Given the description of an element on the screen output the (x, y) to click on. 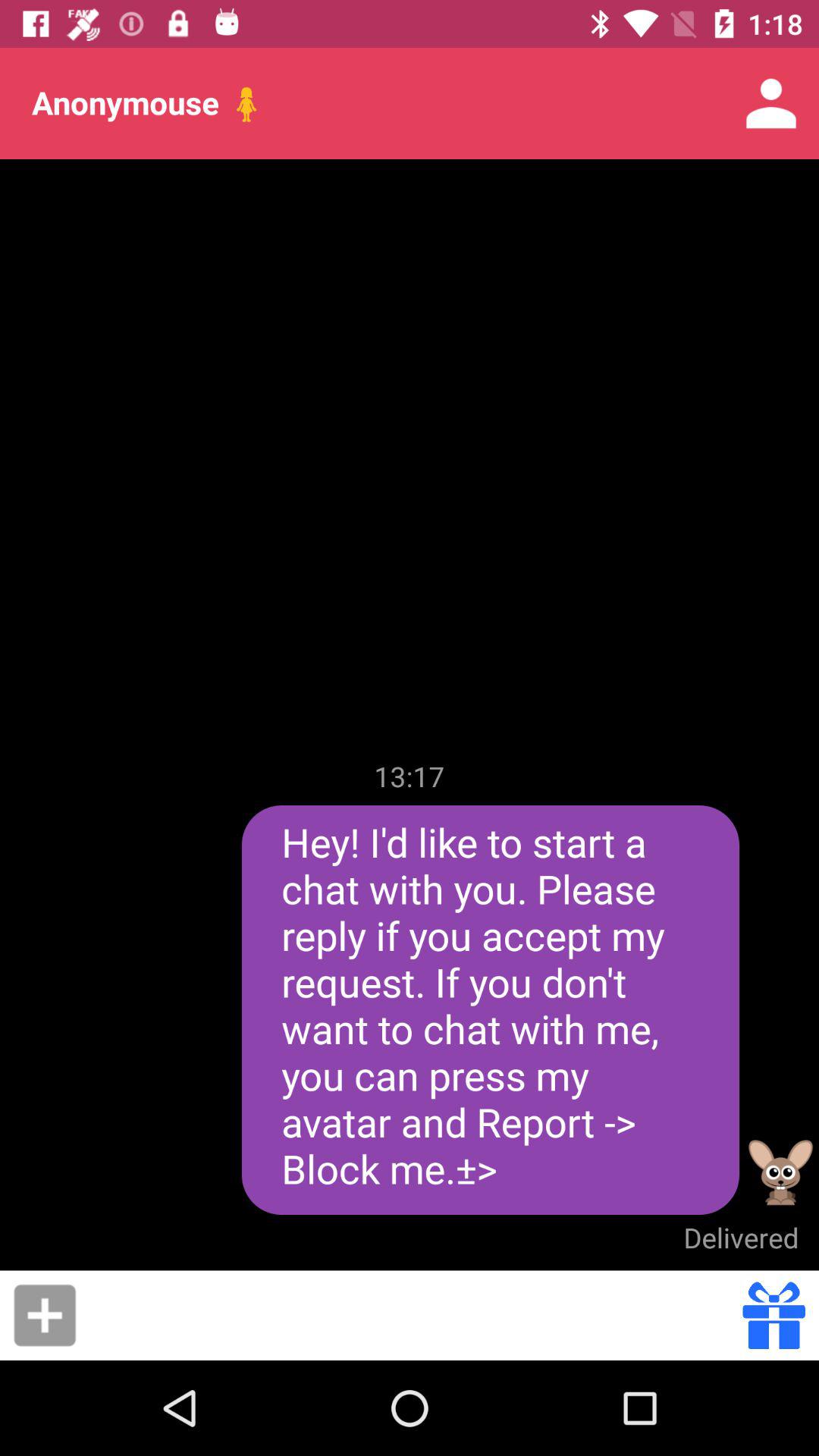
launch the item above the hey i d item (409, 776)
